Given the description of an element on the screen output the (x, y) to click on. 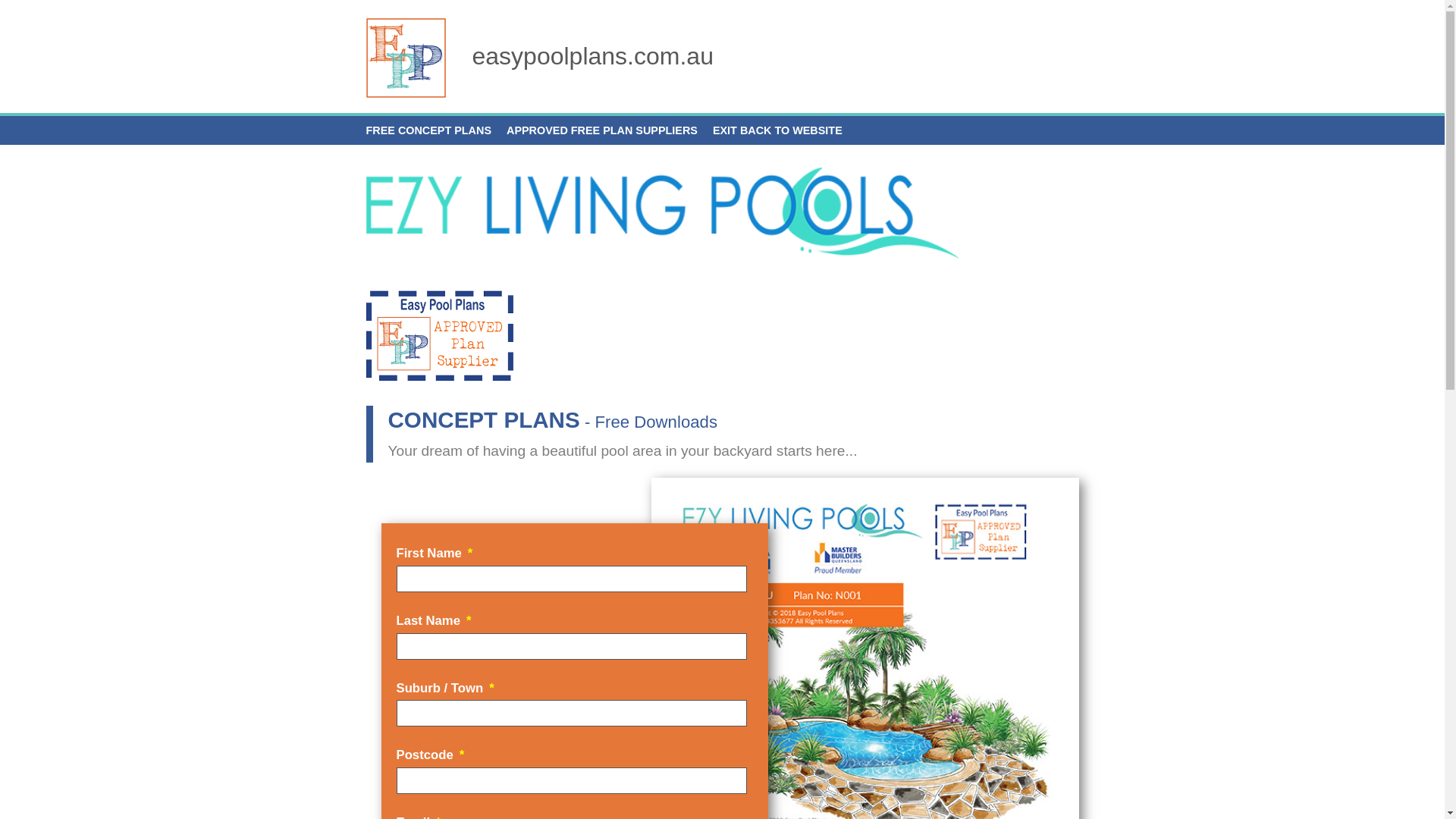
Easy Pool Plans Element type: hover (405, 57)
APPROVED FREE PLAN SUPPLIERS Element type: text (601, 130)
EXIT BACK TO WEBSITE Element type: text (777, 130)
FREE CONCEPT PLANS Element type: text (427, 130)
